Given the description of an element on the screen output the (x, y) to click on. 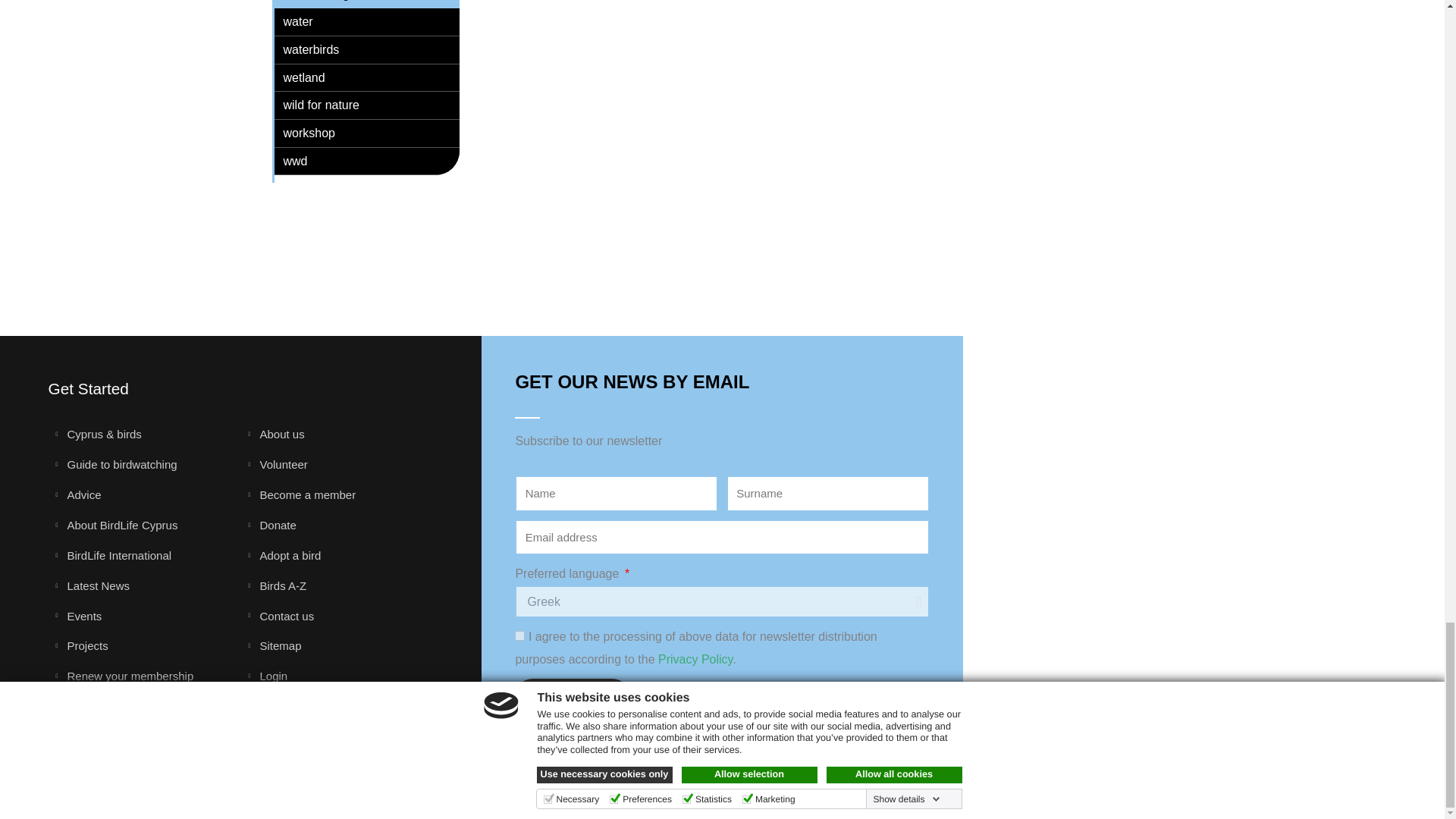
on (519, 635)
